Given the description of an element on the screen output the (x, y) to click on. 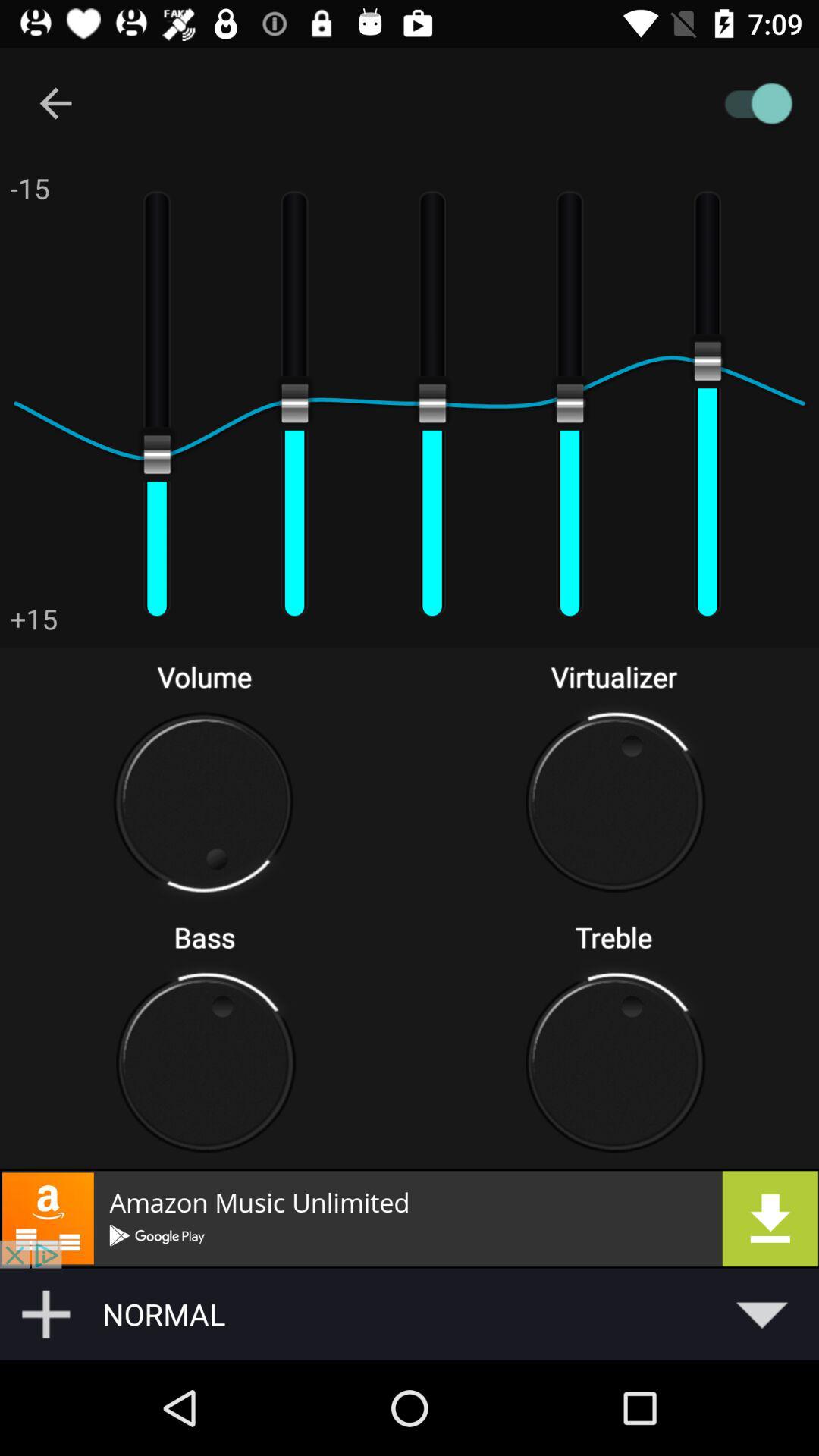
open advertisement (409, 1218)
